Given the description of an element on the screen output the (x, y) to click on. 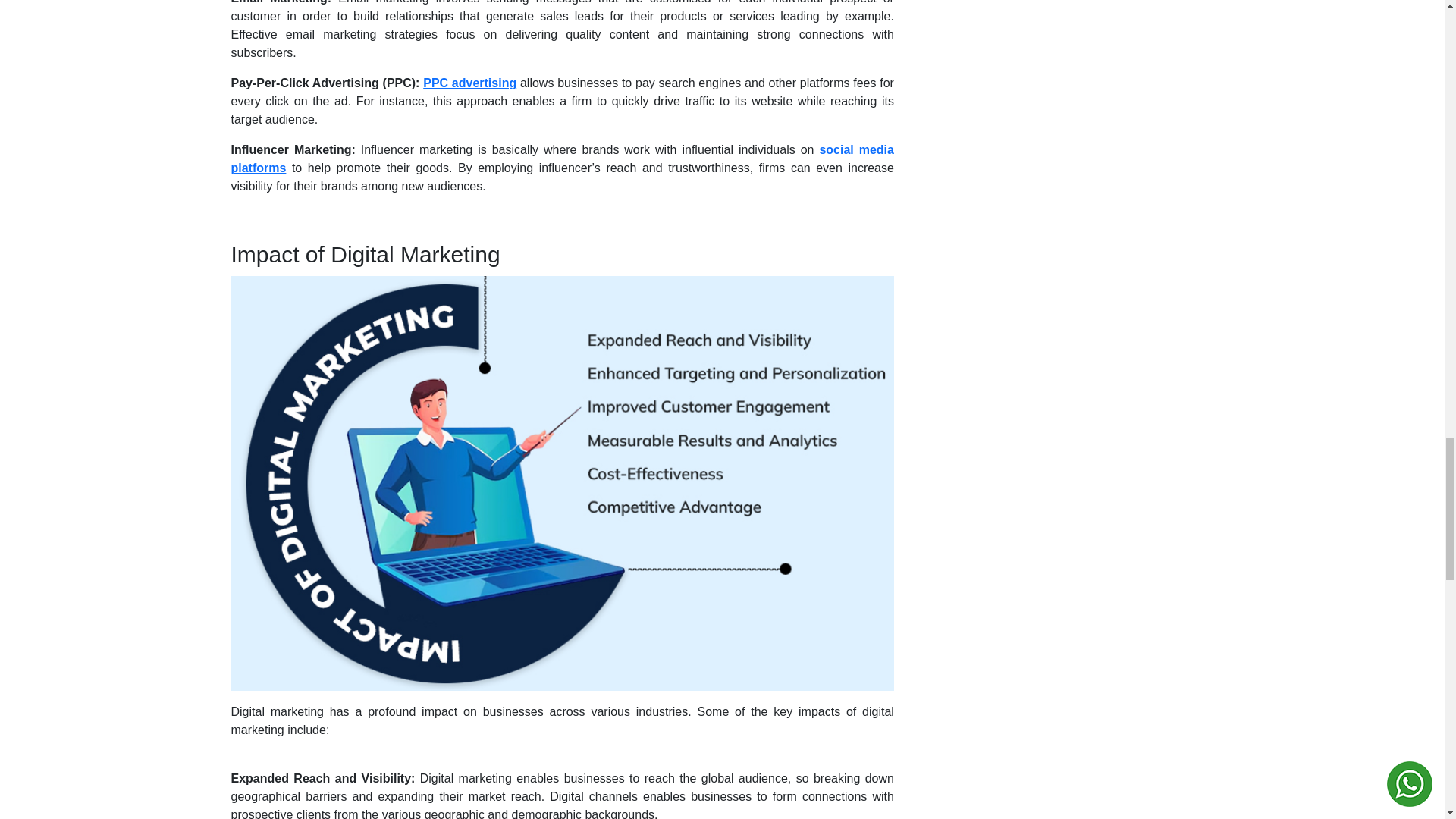
PPC advertising (469, 82)
social media platforms (561, 158)
